Given the description of an element on the screen output the (x, y) to click on. 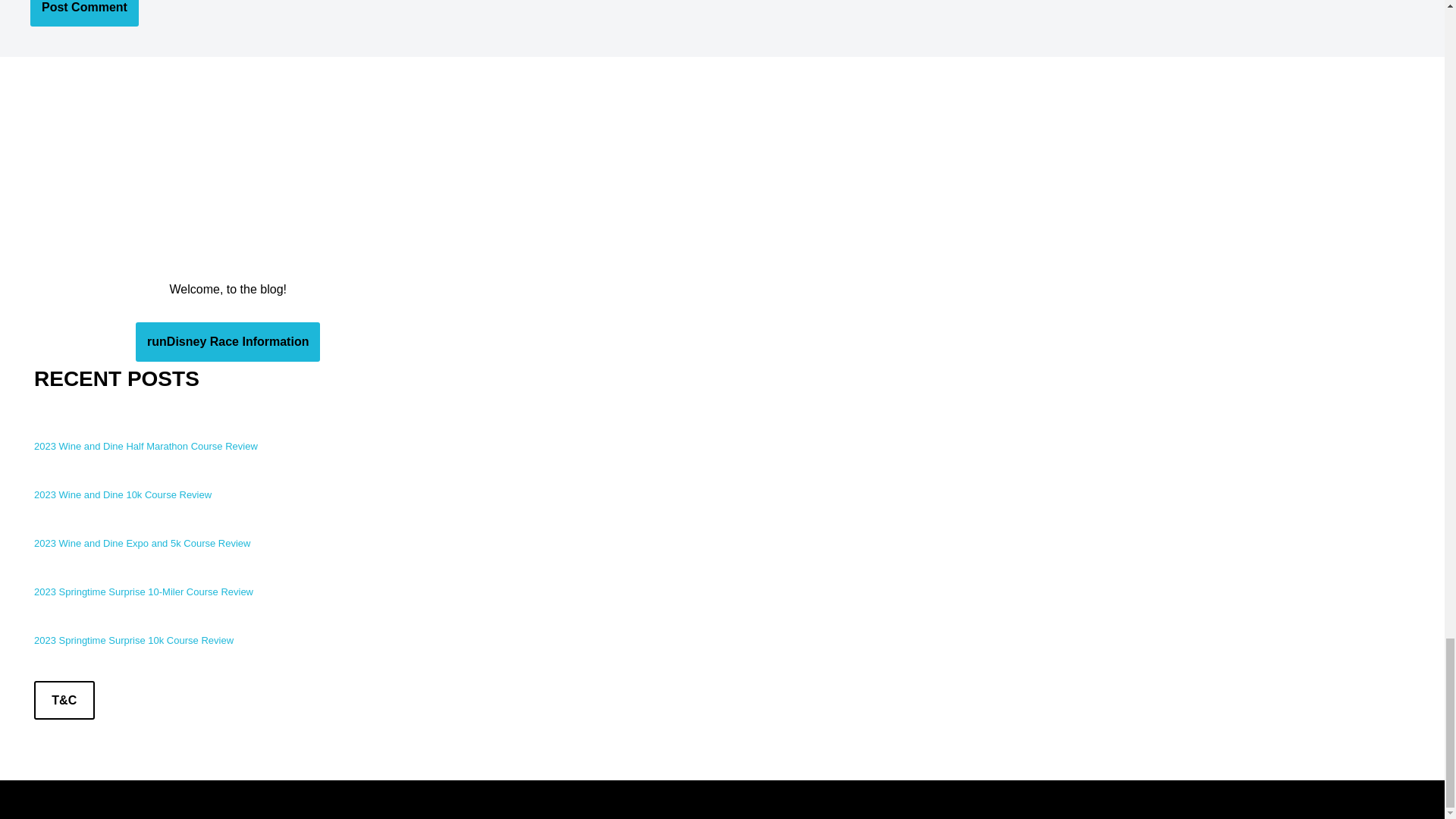
Post Comment (84, 13)
